Given the description of an element on the screen output the (x, y) to click on. 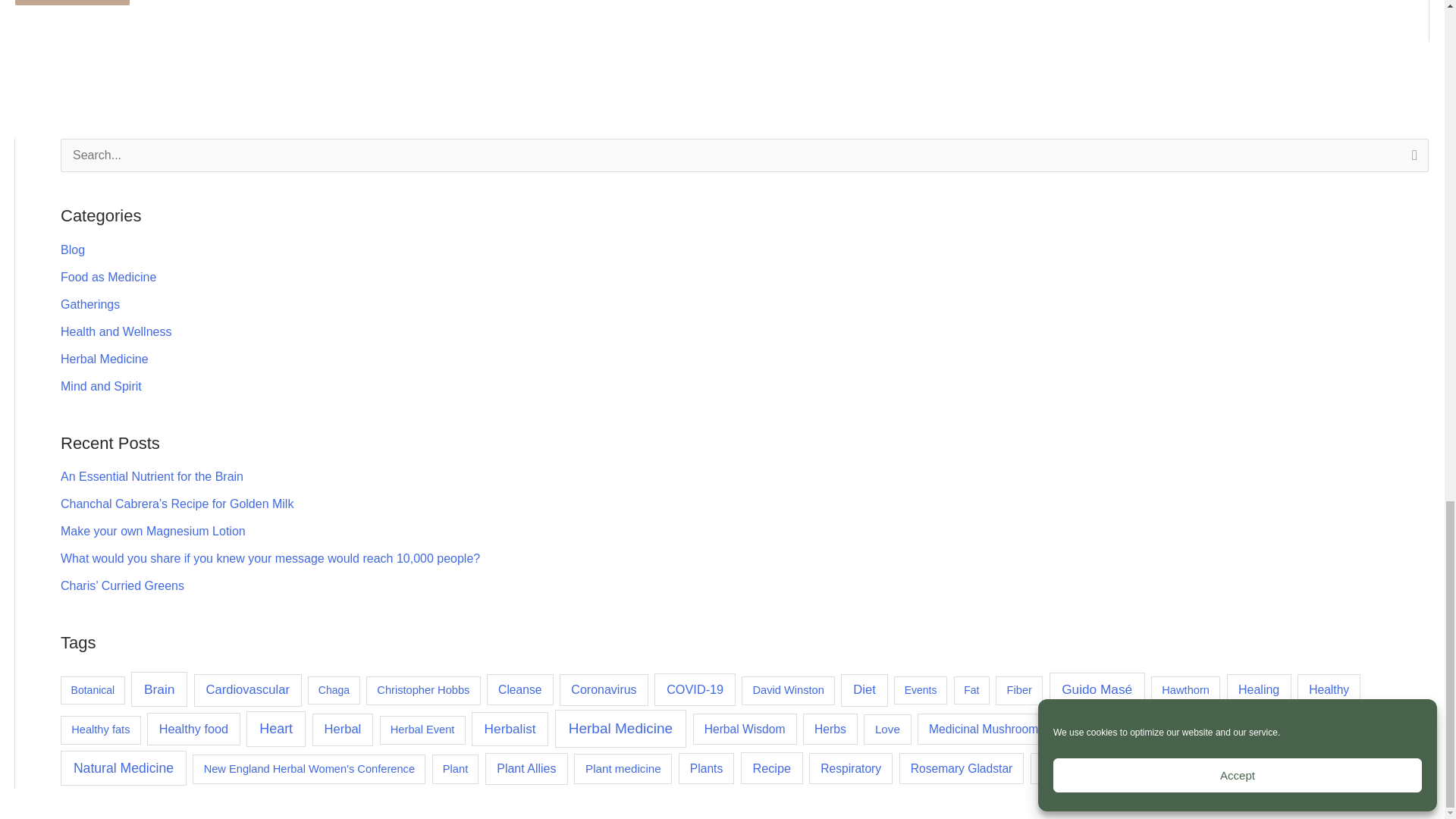
Blog (72, 249)
Food as Medicine (108, 277)
